Given the description of an element on the screen output the (x, y) to click on. 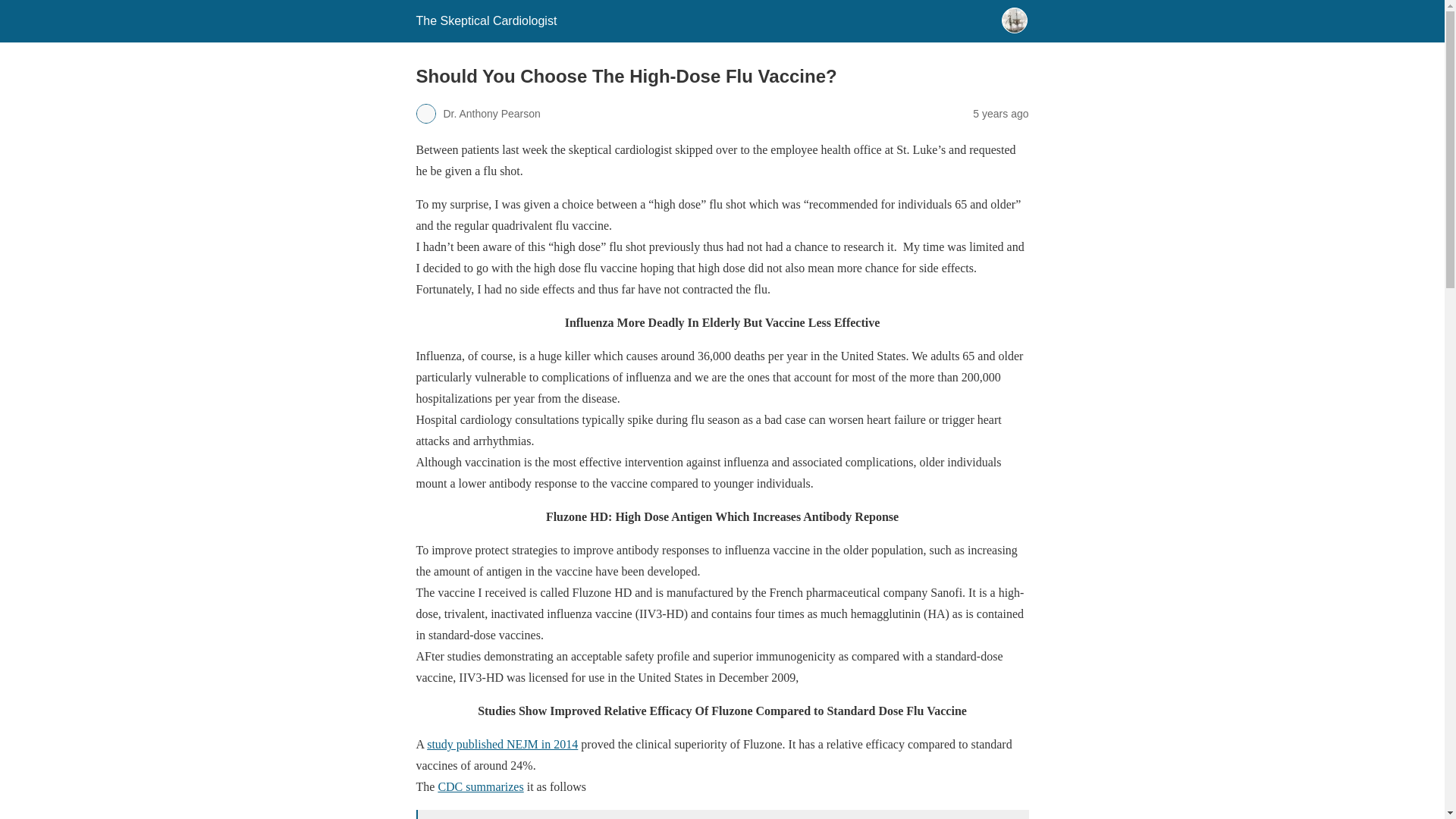
The Skeptical Cardiologist (485, 20)
CDC summarizes (480, 786)
study published NEJM in 2014 (502, 744)
